Given the description of an element on the screen output the (x, y) to click on. 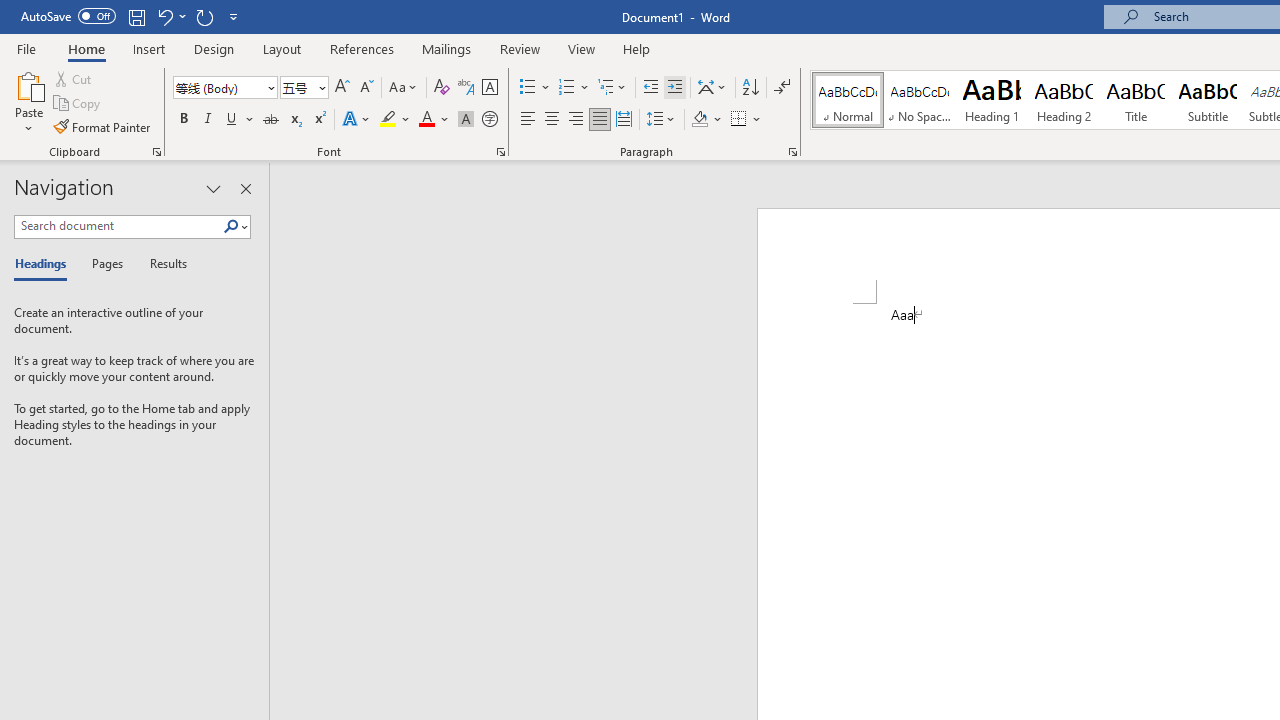
Font Color Red (426, 119)
